Given the description of an element on the screen output the (x, y) to click on. 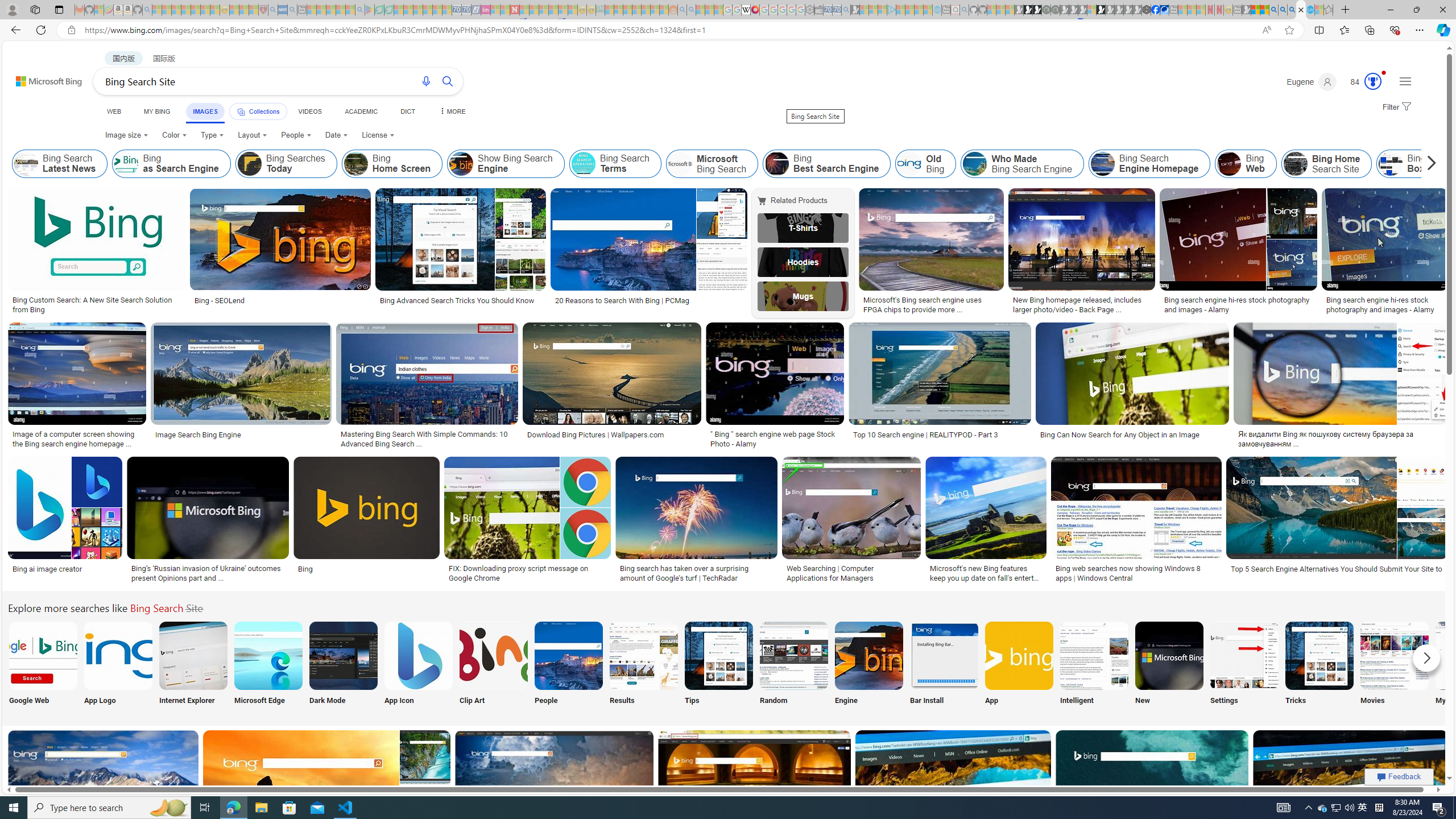
Bing Advanced Search Tricks You Should Know (460, 299)
Bing People Search (568, 654)
Bing Photo Search Microsoft Edge (268, 654)
MSN - Sleeping (1246, 9)
FIX: Downloading proxy script message on Google Chrome (526, 573)
Bing Search Tricks Tricks (1319, 665)
Color (173, 135)
